Given the description of an element on the screen output the (x, y) to click on. 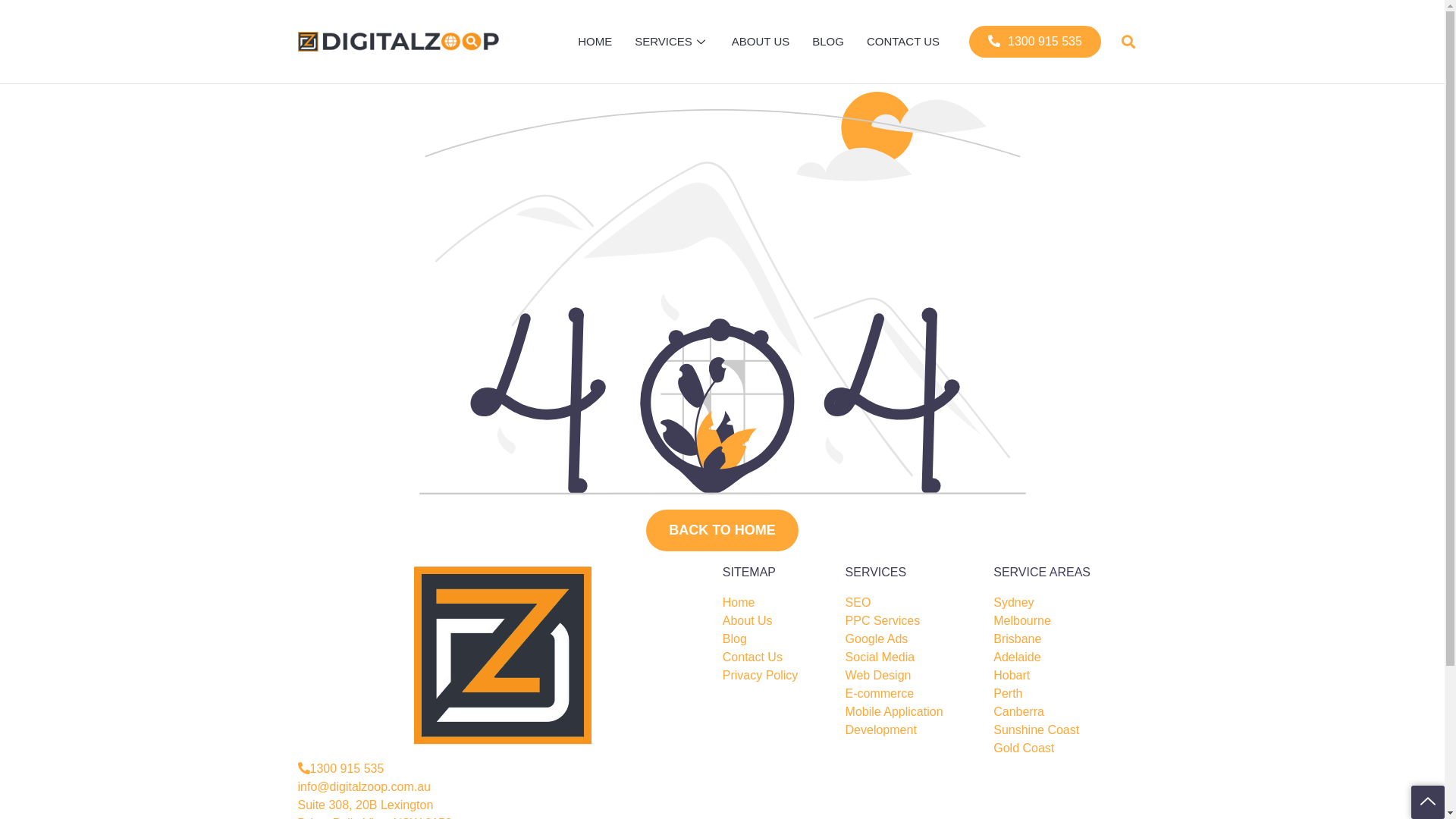
1300 915 535 Element type: text (1035, 41)
Home Element type: text (738, 602)
PPC Services Element type: text (882, 620)
BACK TO HOME Element type: text (722, 530)
SEO Element type: text (858, 602)
About Us Element type: text (747, 620)
info@digitalzoop.com.au Element type: text (363, 787)
Perth Element type: text (1007, 693)
Google Ads Element type: text (876, 639)
Brisbane Element type: text (1017, 639)
Melbourne Element type: text (1022, 620)
HOME Element type: text (594, 41)
Canberra Element type: text (1018, 711)
Web Design Element type: text (878, 675)
Adelaide Element type: text (1016, 657)
Social Media Element type: text (880, 657)
Mobile Application
Development Element type: text (894, 720)
SERVICES Element type: text (671, 41)
CONTACT US Element type: text (902, 41)
Sunshine Coast Element type: text (1036, 730)
BLOG Element type: text (827, 41)
E-commerce Element type: text (879, 693)
Contact Us Element type: text (752, 657)
Hobart Element type: text (1011, 675)
Privacy Policy Element type: text (760, 675)
ABOUT US Element type: text (760, 41)
Blog Element type: text (734, 639)
Gold Coast Element type: text (1023, 748)
Sydney Element type: text (1013, 602)
1300 915 535 Element type: text (340, 768)
